Given the description of an element on the screen output the (x, y) to click on. 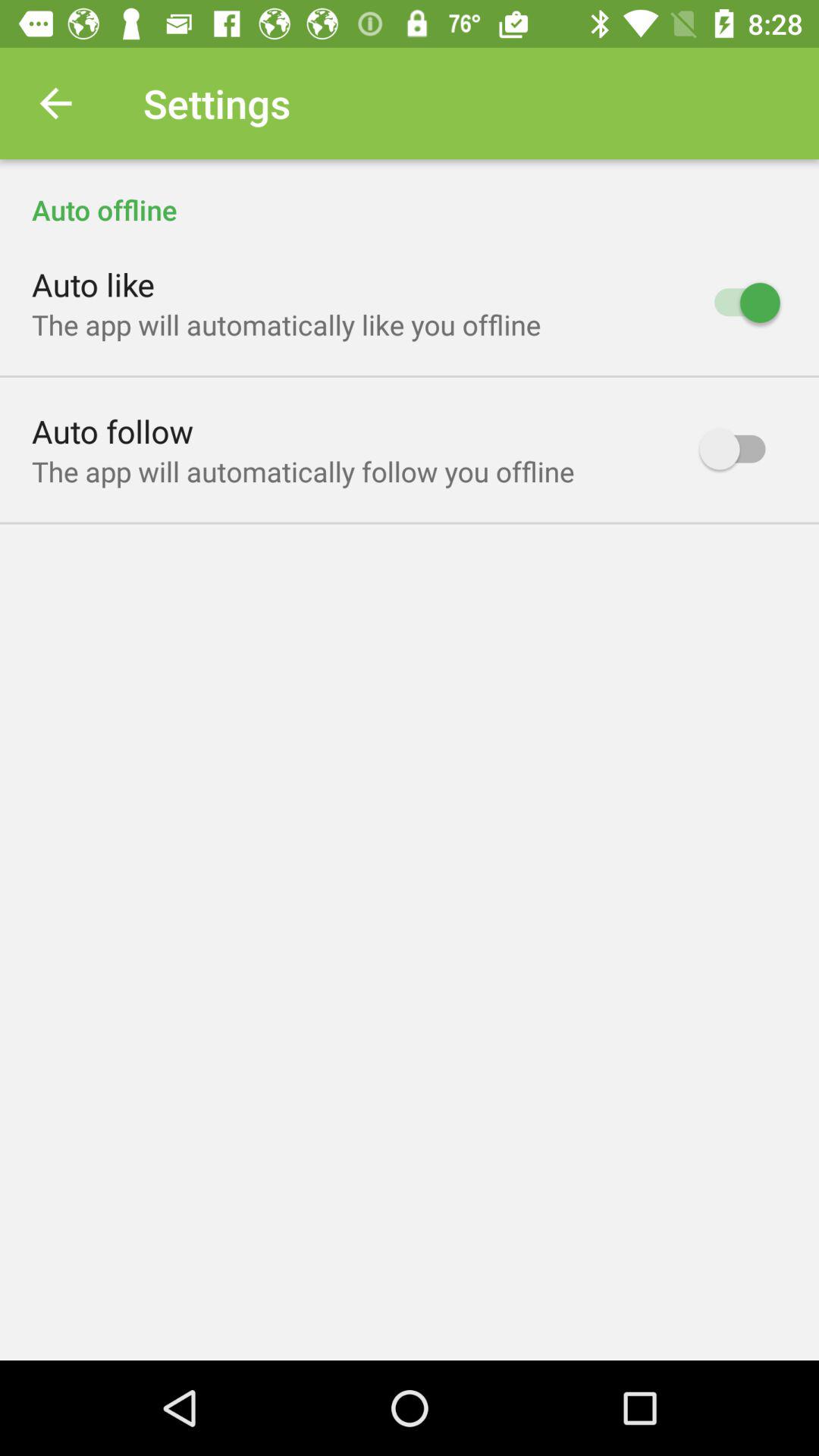
turn on the auto offline (409, 193)
